Given the description of an element on the screen output the (x, y) to click on. 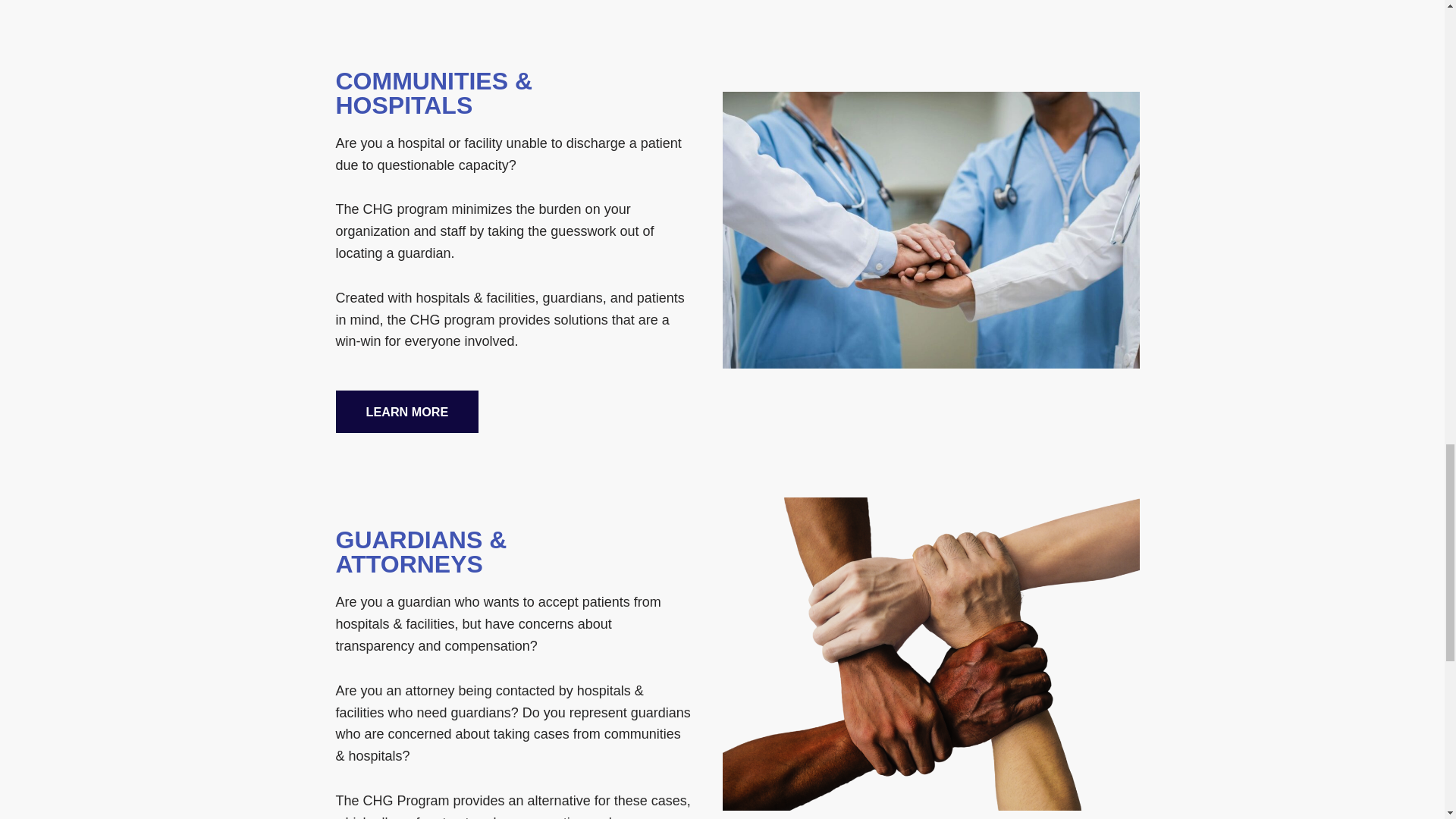
LEARN MORE (406, 411)
